Given the description of an element on the screen output the (x, y) to click on. 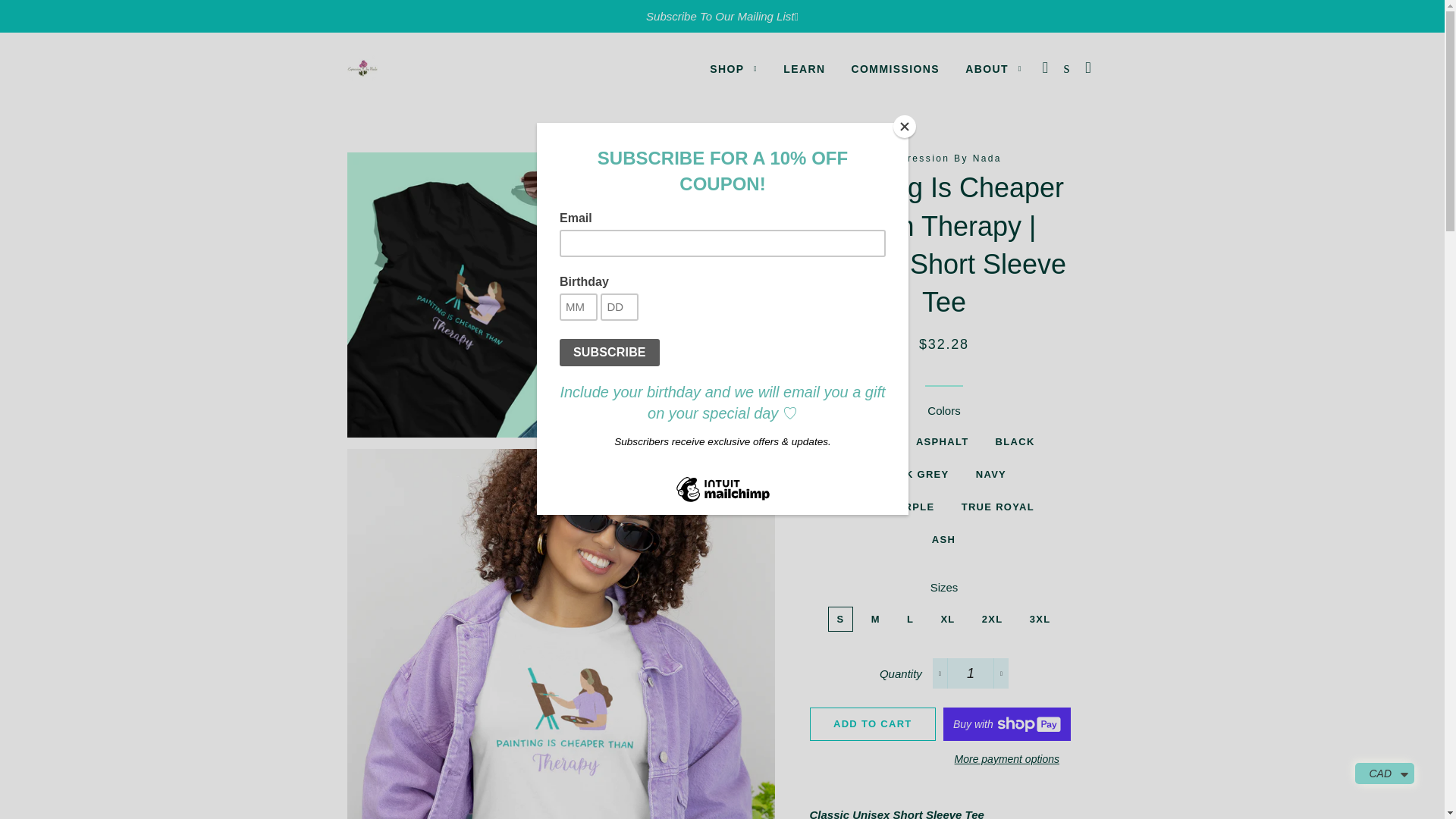
1 (971, 673)
